Given the description of an element on the screen output the (x, y) to click on. 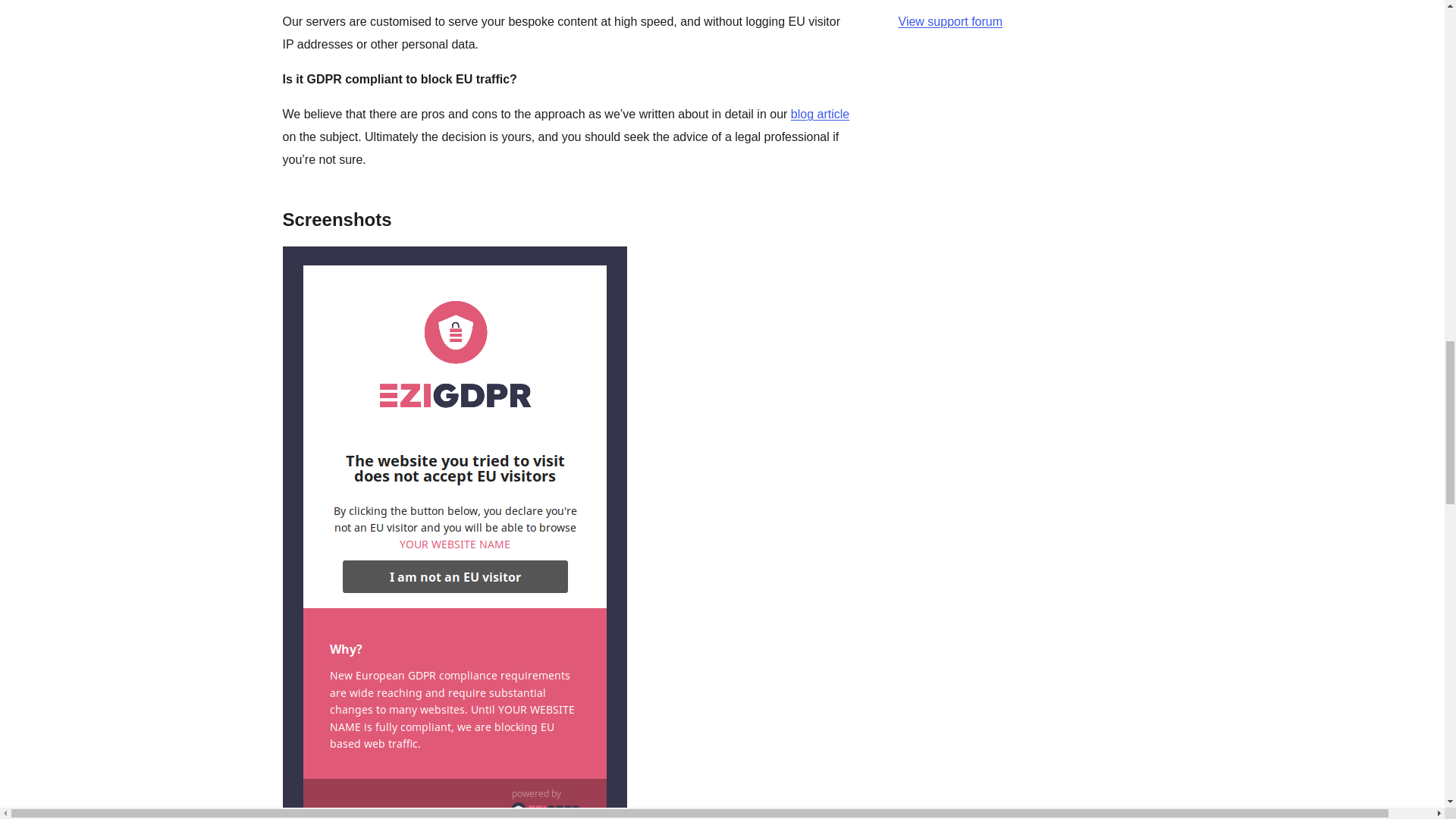
blog article (819, 113)
Blog post regarding blocking EU visitors (819, 113)
